Given the description of an element on the screen output the (x, y) to click on. 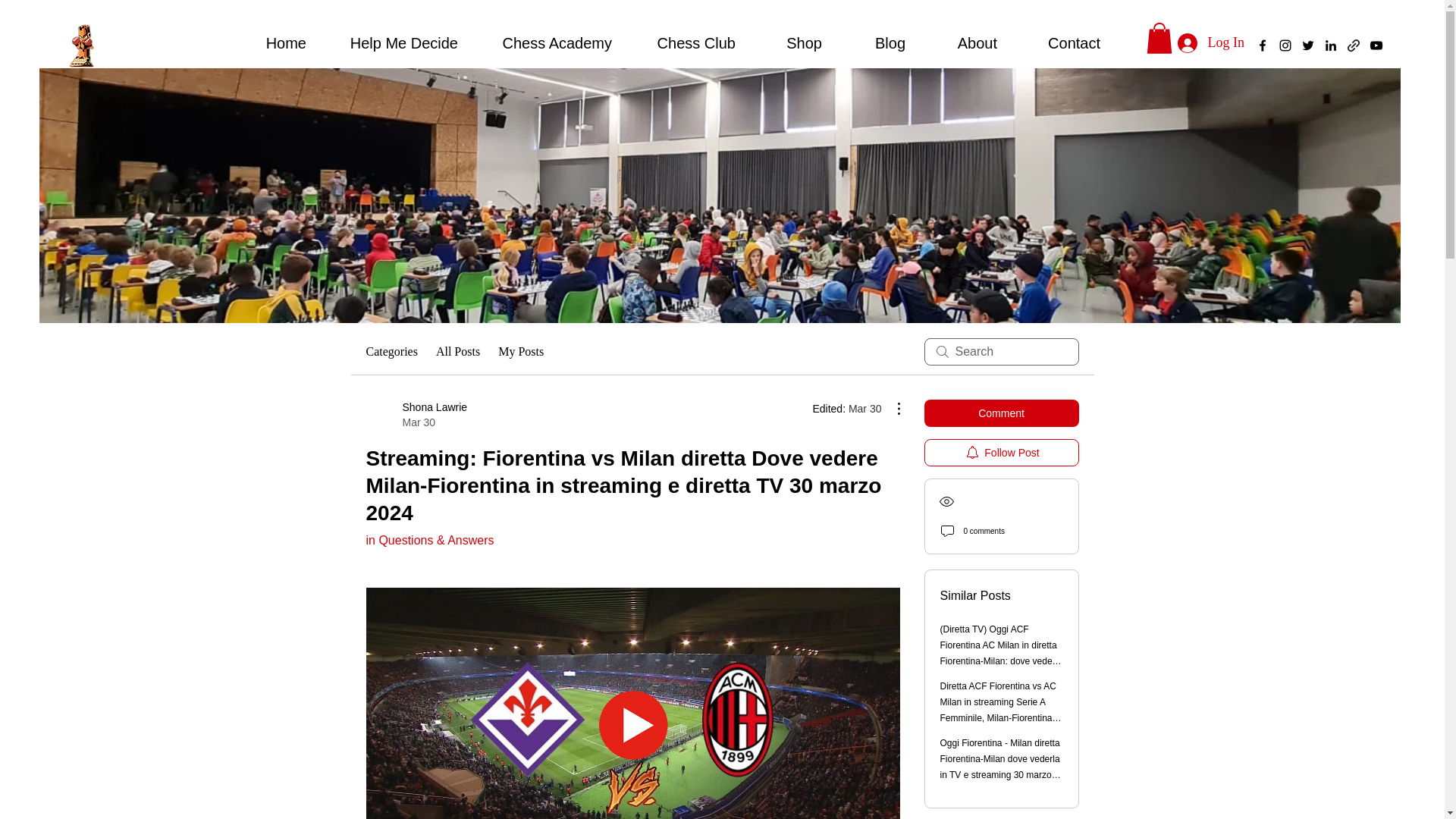
Contact (1060, 43)
My Posts (520, 352)
Shop (789, 43)
Log In (1210, 42)
Home (271, 43)
Chess Academy (545, 43)
About (963, 43)
Help Me Decide (392, 43)
Blog (874, 43)
All Posts (457, 352)
Categories (390, 352)
Chess Club (416, 414)
